Given the description of an element on the screen output the (x, y) to click on. 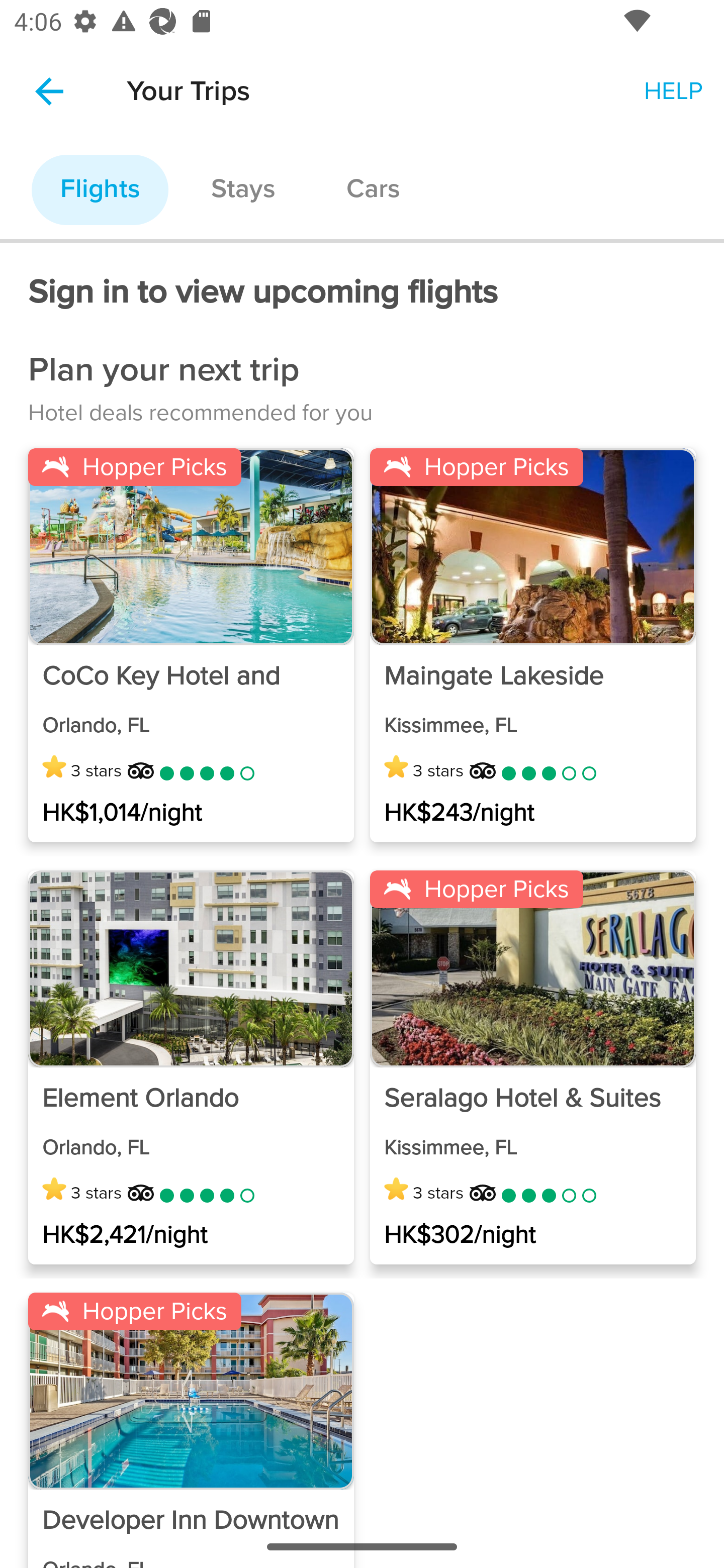
Navigate up (49, 91)
HELP (673, 90)
‍Flights (99, 190)
‍Stays (242, 190)
‍Cars (372, 190)
‍Developer Inn Downtown Orlando ‍Orlando, FL (191, 1535)
